Given the description of an element on the screen output the (x, y) to click on. 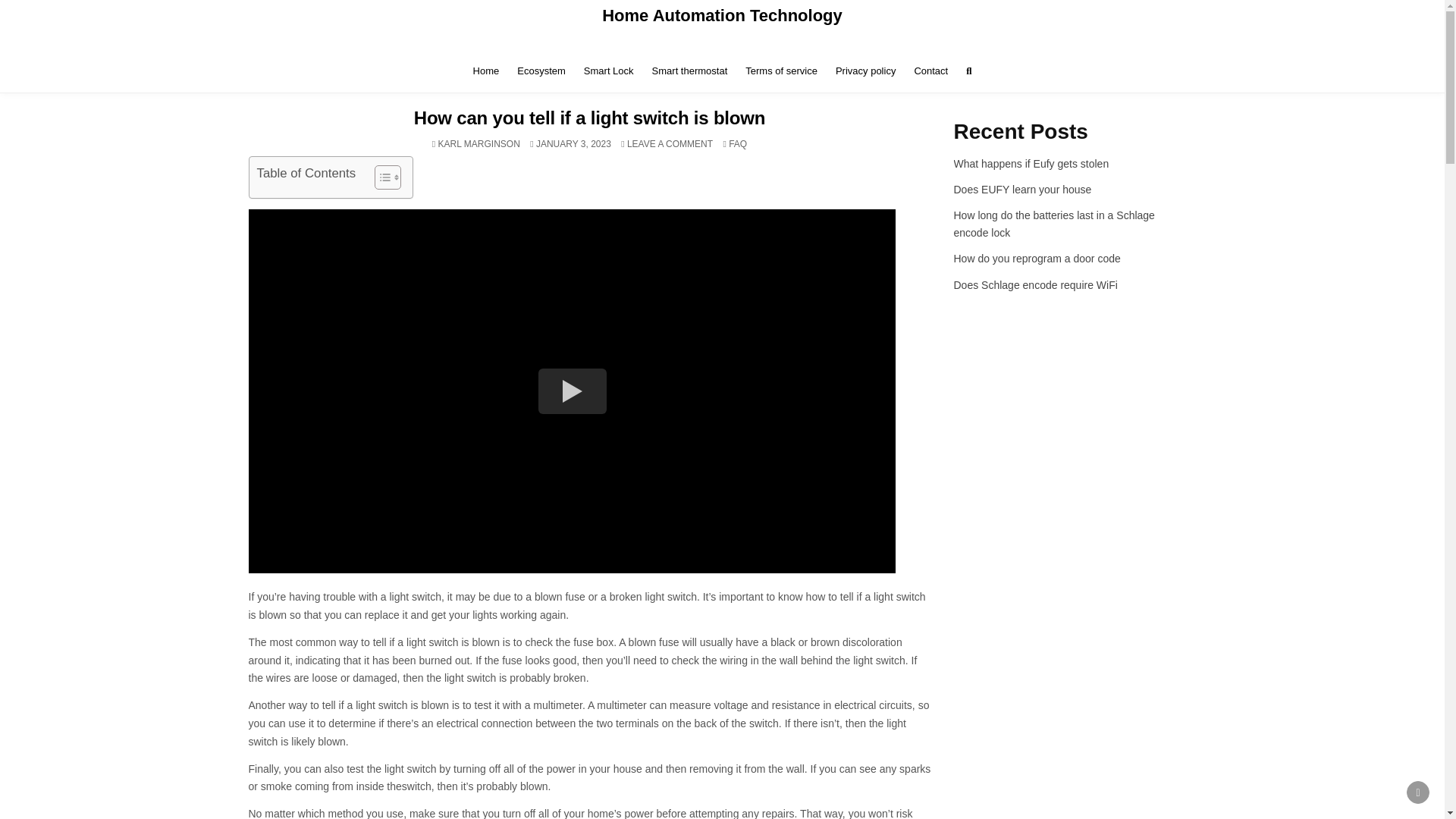
Ecosystem (541, 70)
Smart Lock (609, 70)
Scroll to Top (1417, 792)
Home (486, 70)
Smart thermostat (689, 70)
Does Schlage encode require WiFi (1035, 285)
Terms of service (781, 70)
SCROLL TO TOP (1417, 792)
